Given the description of an element on the screen output the (x, y) to click on. 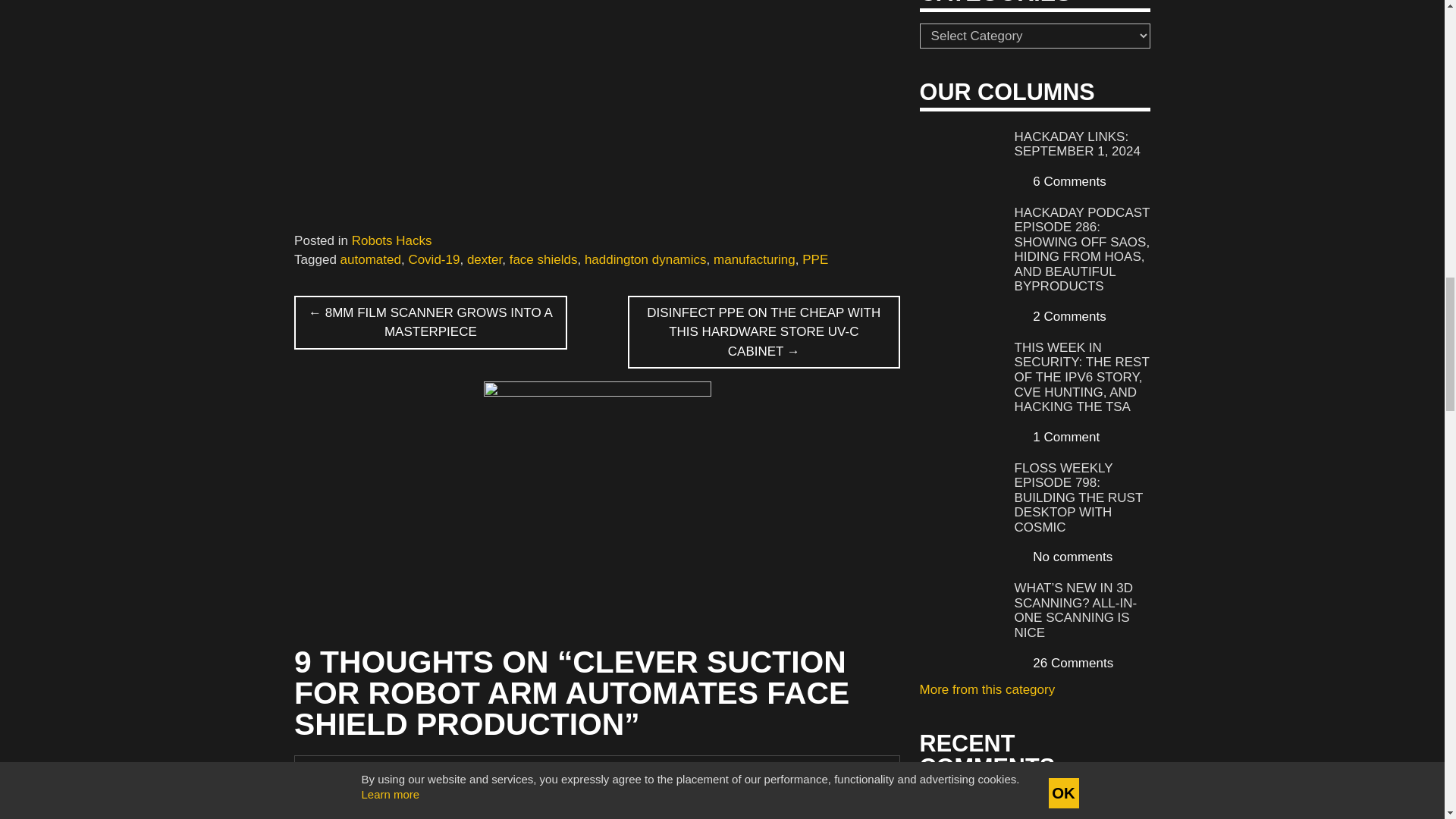
face shields (543, 259)
Covid-19 (433, 259)
Robots Hacks (392, 240)
dexter (484, 259)
automated (370, 259)
haddington dynamics (645, 259)
